Given the description of an element on the screen output the (x, y) to click on. 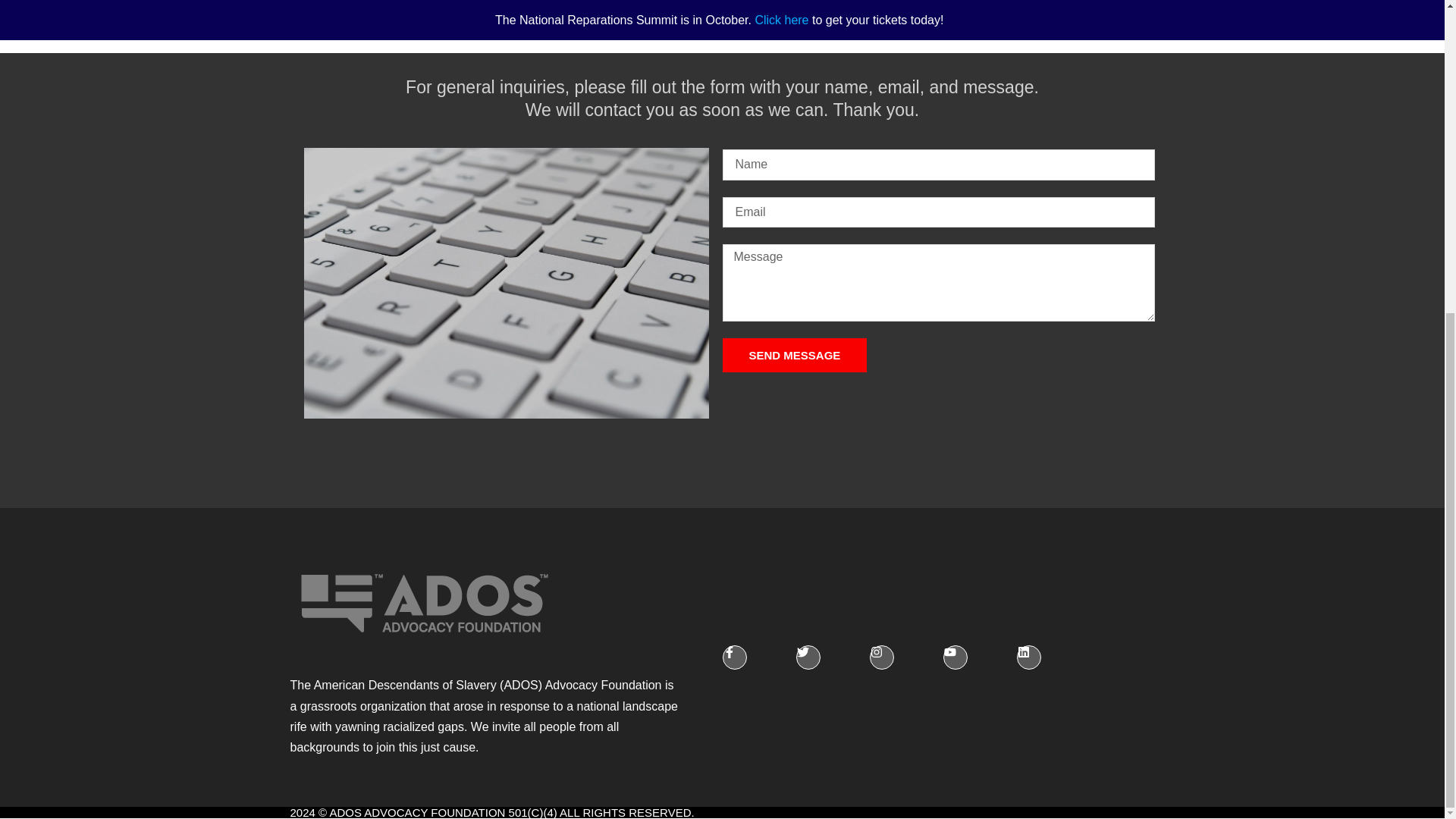
SEND MESSAGE (794, 355)
Event Invite Form (722, 9)
